Given the description of an element on the screen output the (x, y) to click on. 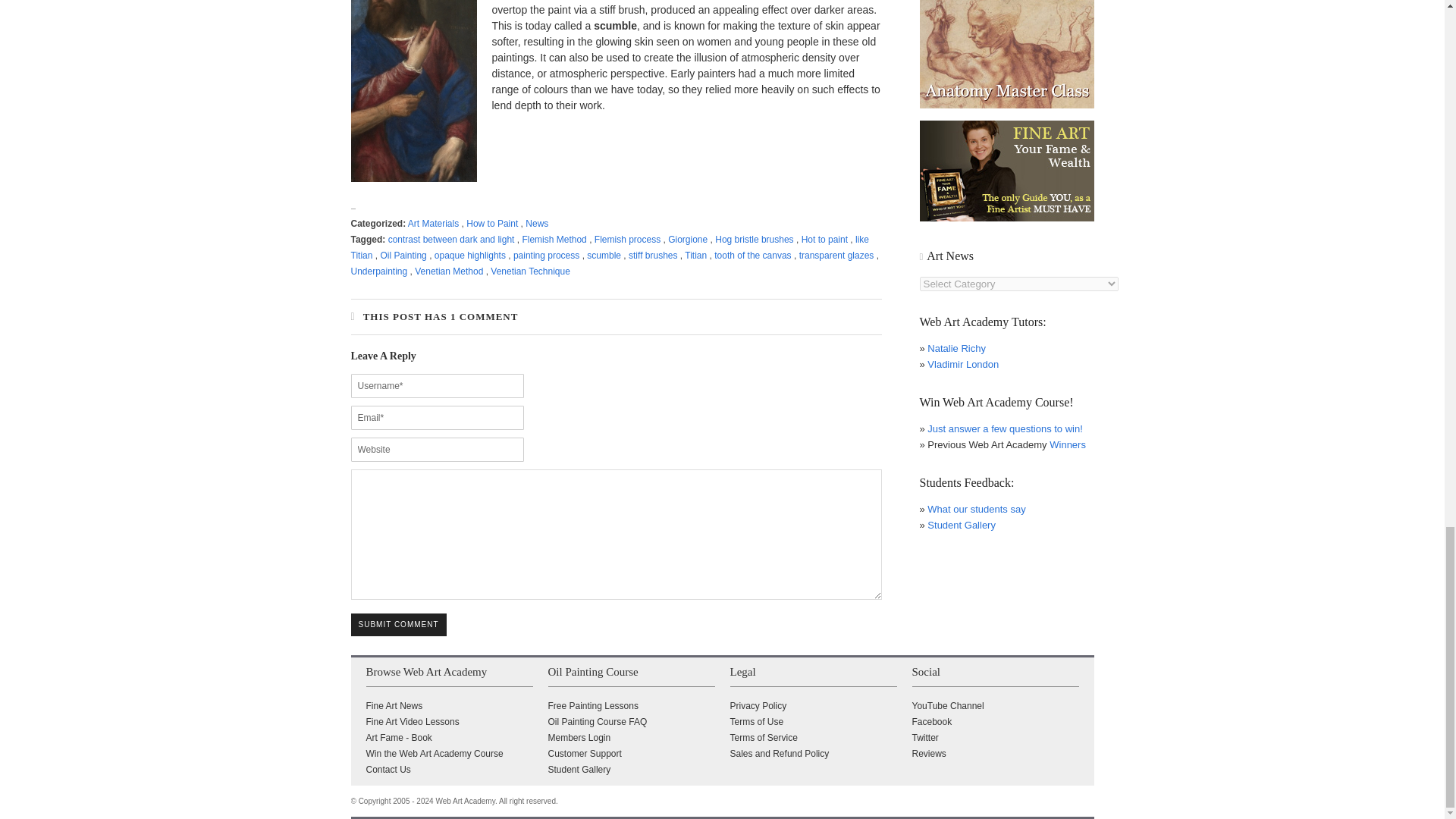
News (536, 223)
Giorgione (687, 239)
Flemish Method (553, 239)
Art Materials (432, 223)
How to Paint (491, 223)
contrast between dark and light (451, 239)
Website (436, 449)
Web Art Academy (465, 800)
Oil Painting (403, 255)
Flemish process (627, 239)
painting process (546, 255)
scumble (603, 255)
Hog bristle brushes (753, 239)
opaque highlights (469, 255)
Hot to paint (824, 239)
